Given the description of an element on the screen output the (x, y) to click on. 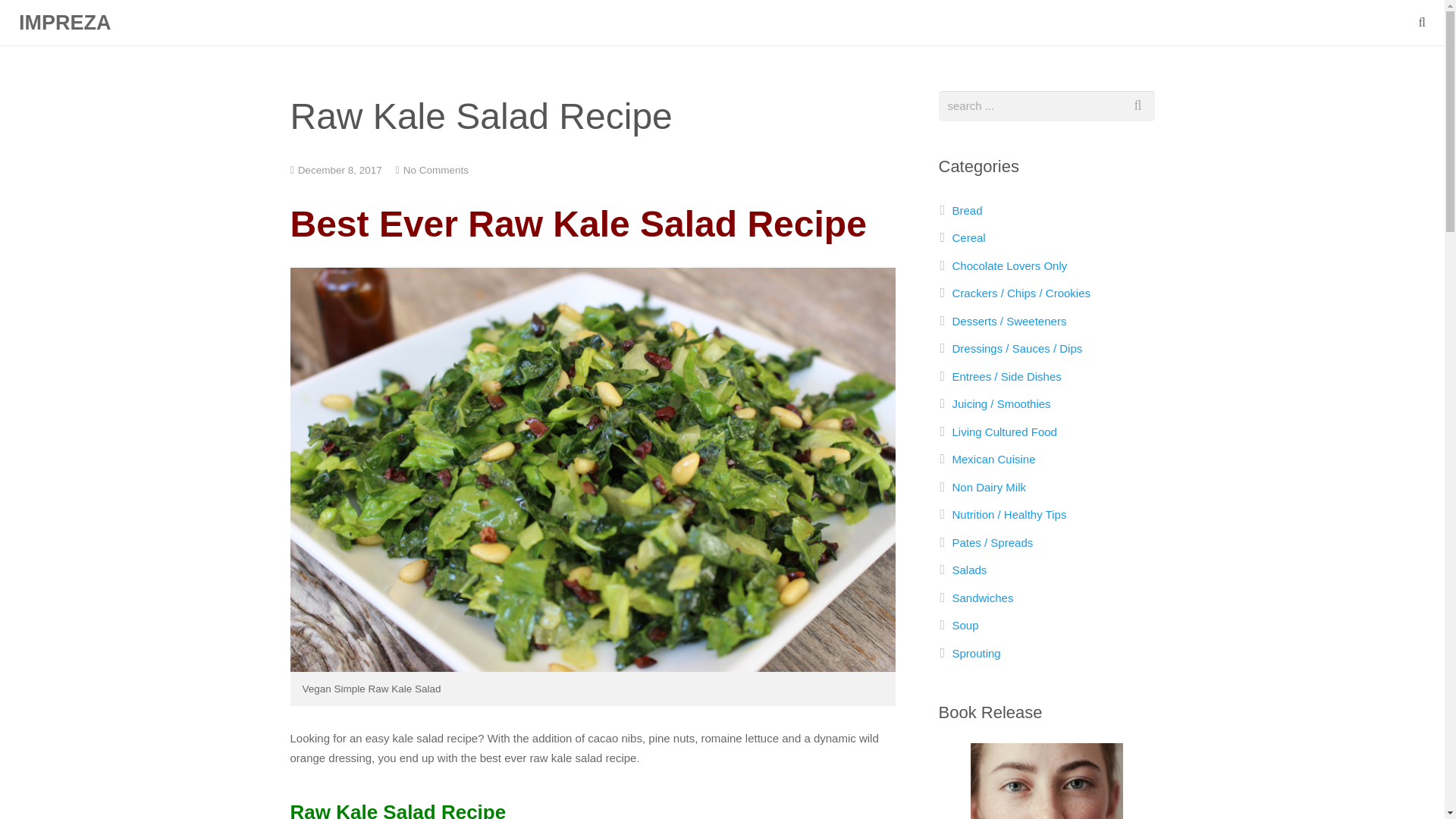
Living Cultured Food (1004, 431)
Soup (965, 625)
Sprouting (976, 653)
Bread (967, 210)
Sandwiches (982, 597)
IMPREZA (65, 22)
Mexican Cuisine (993, 459)
No Comments (435, 170)
Cereal (968, 237)
Non Dairy Milk (989, 486)
Salads (969, 569)
Chocolate Lovers Only (1009, 265)
